Given the description of an element on the screen output the (x, y) to click on. 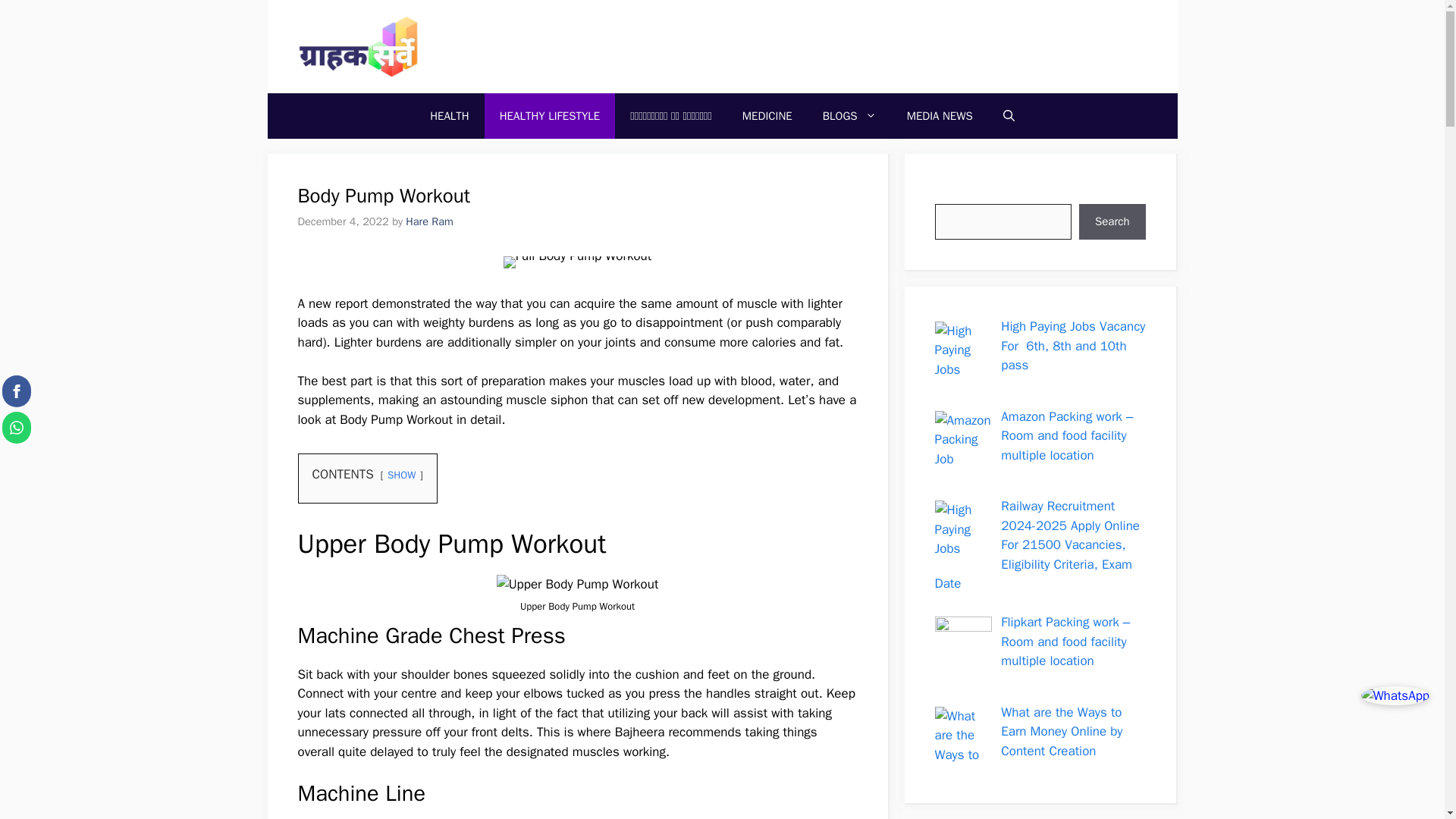
HEALTHY LIFESTYLE (549, 115)
BLOGS (849, 115)
HEALTH (449, 115)
MEDICINE (767, 115)
View all posts by Hare Ram (429, 221)
MEDIA NEWS (939, 115)
Hare Ram (429, 221)
SHOW (400, 474)
